Given the description of an element on the screen output the (x, y) to click on. 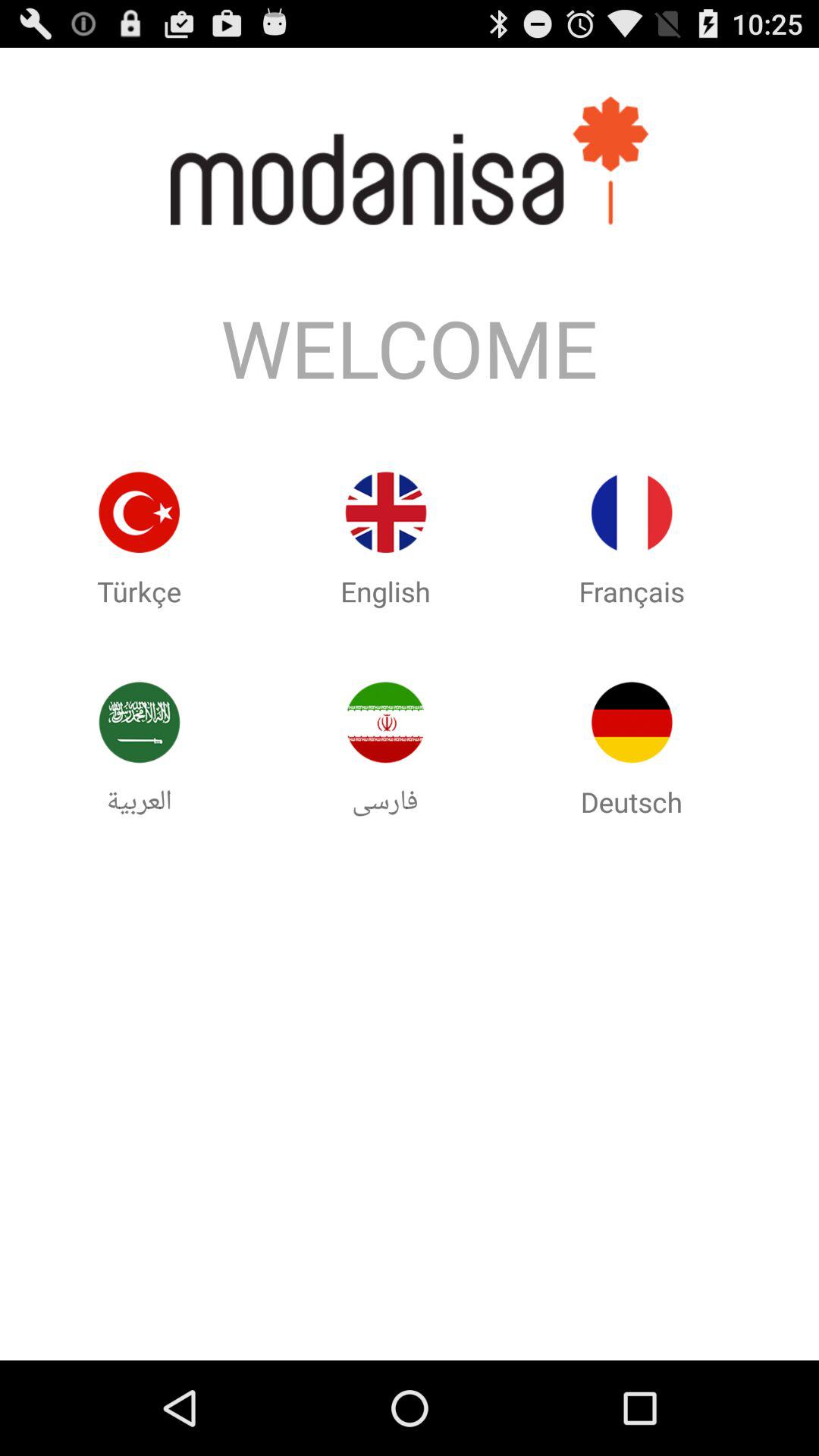
pick france (631, 512)
